Given the description of an element on the screen output the (x, y) to click on. 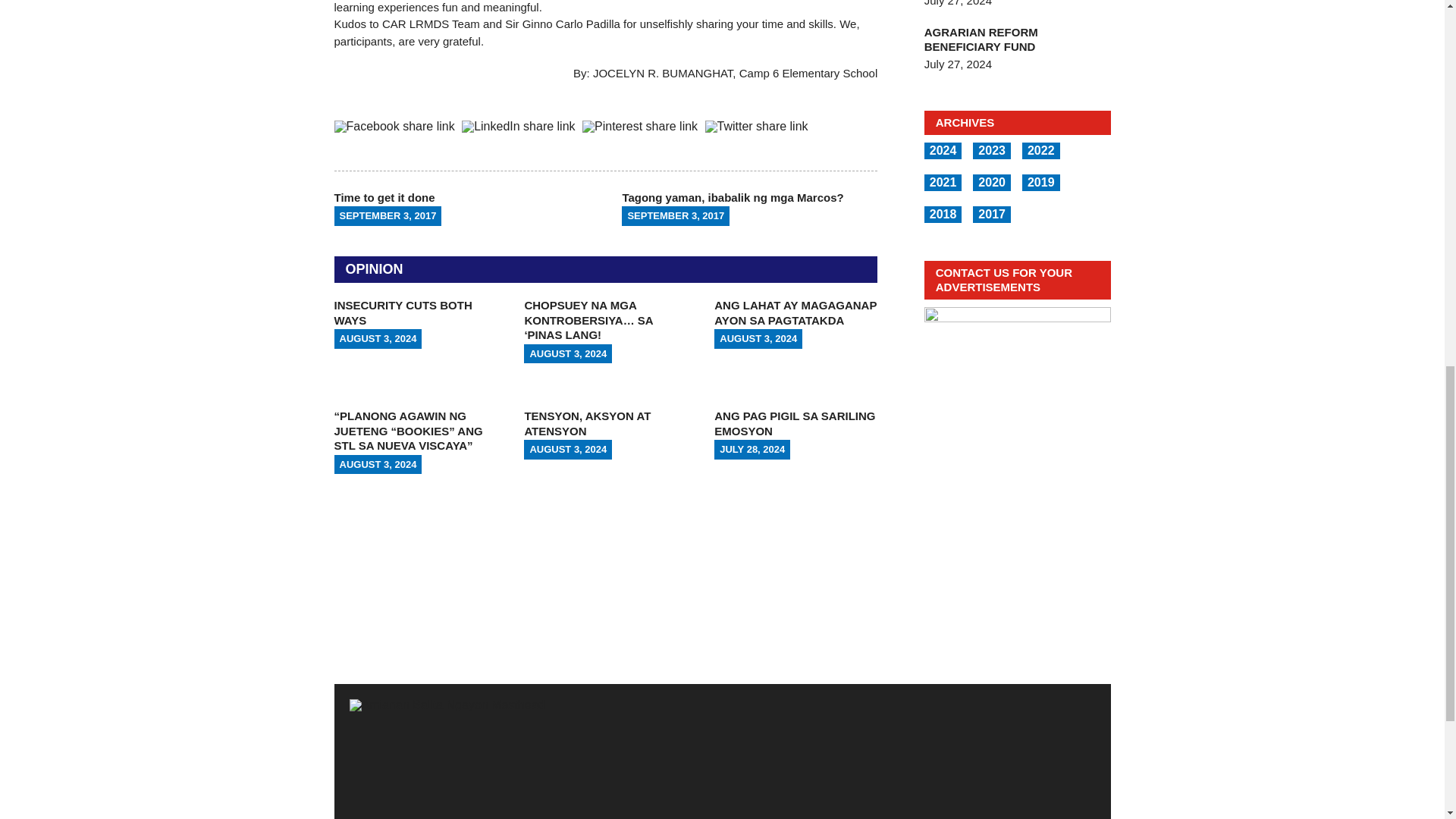
INSECURITY CUTS BOTH WAYS (402, 312)
2022 (1040, 150)
Tagong yaman, ibabalik ng mga Marcos? (749, 205)
2023 (992, 150)
Amianan Balita Ngayon Online News (721, 759)
2020 (992, 182)
ANG PAG PIGIL SA SARILING EMOSYON (794, 423)
TENSYON, AKSYON AT ATENSYON (587, 423)
Time to get it done (461, 205)
AGRARIAN REFORM BENEFICIARY FUND (981, 39)
2024 (943, 150)
2021 (943, 182)
ANG LAHAT AY MAGAGANAP AYON SA PAGTATAKDA (795, 312)
